Given the description of an element on the screen output the (x, y) to click on. 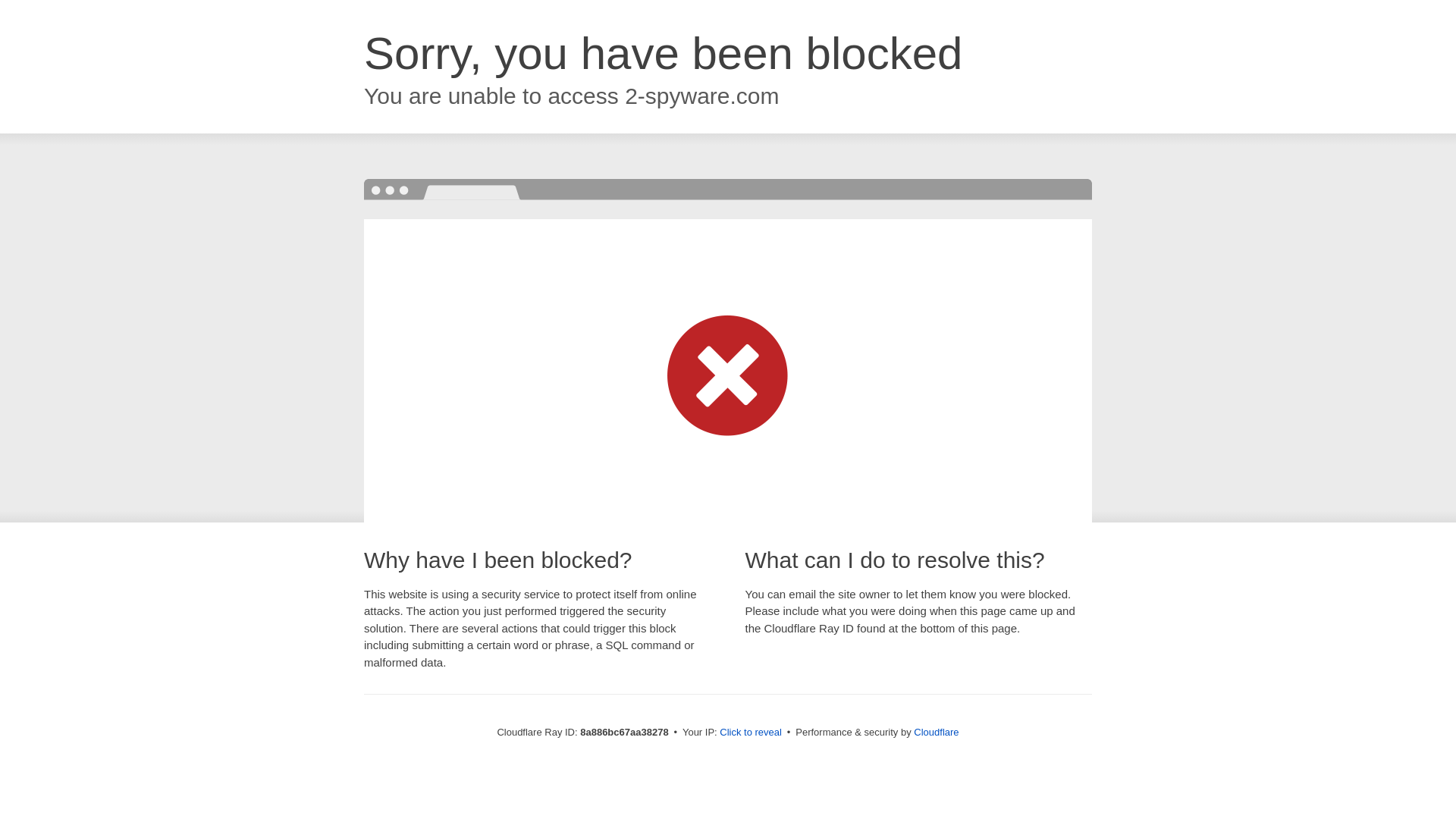
Click to reveal (750, 732)
Cloudflare (936, 731)
